Given the description of an element on the screen output the (x, y) to click on. 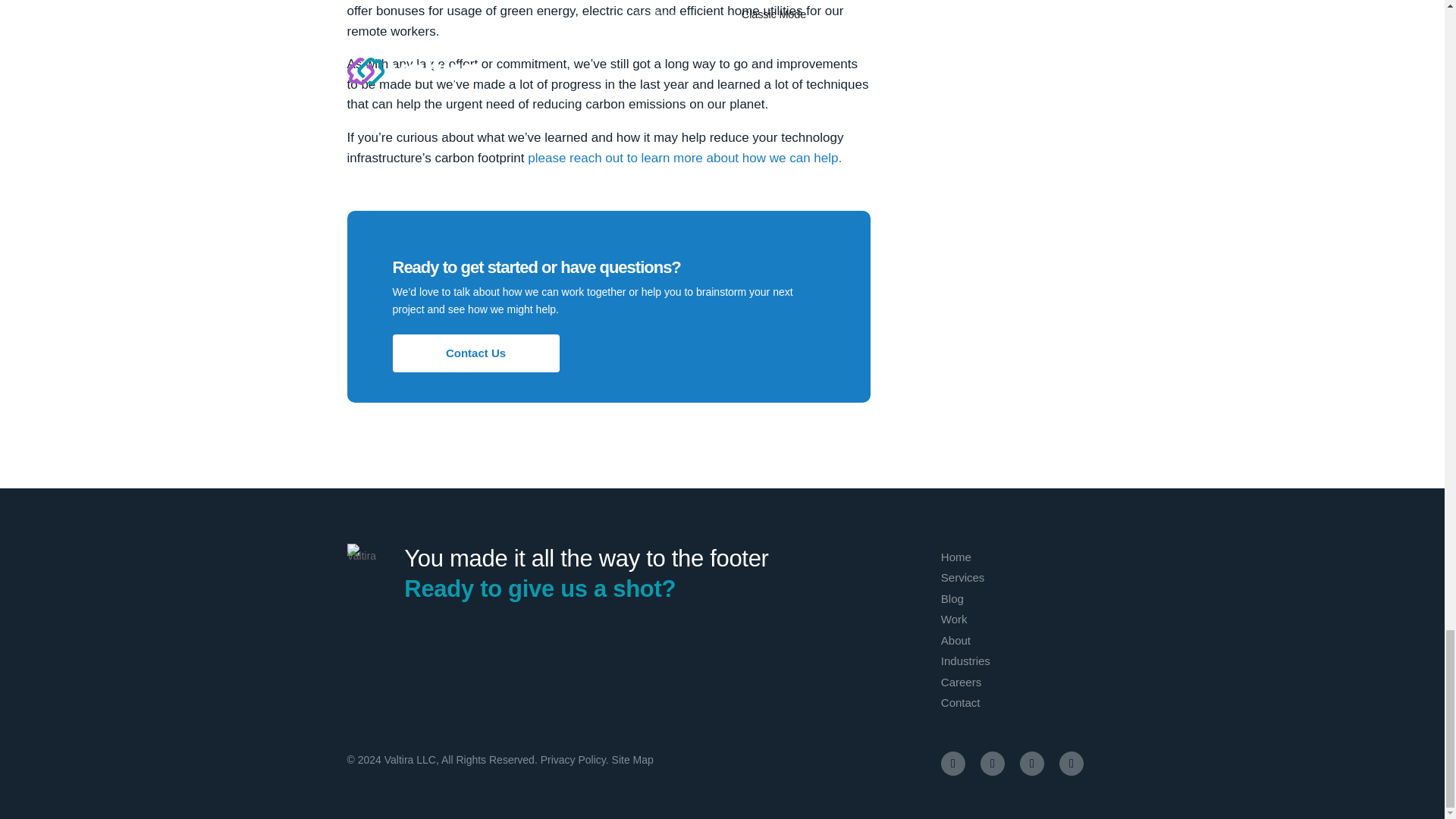
Follow on LinkedIn (1071, 763)
please reach out to learn more about how we can help. (684, 157)
Follow on Instagram (991, 763)
Follow on Twitter (1031, 763)
Contact Us (476, 353)
Follow on Facebook (952, 763)
